Given the description of an element on the screen output the (x, y) to click on. 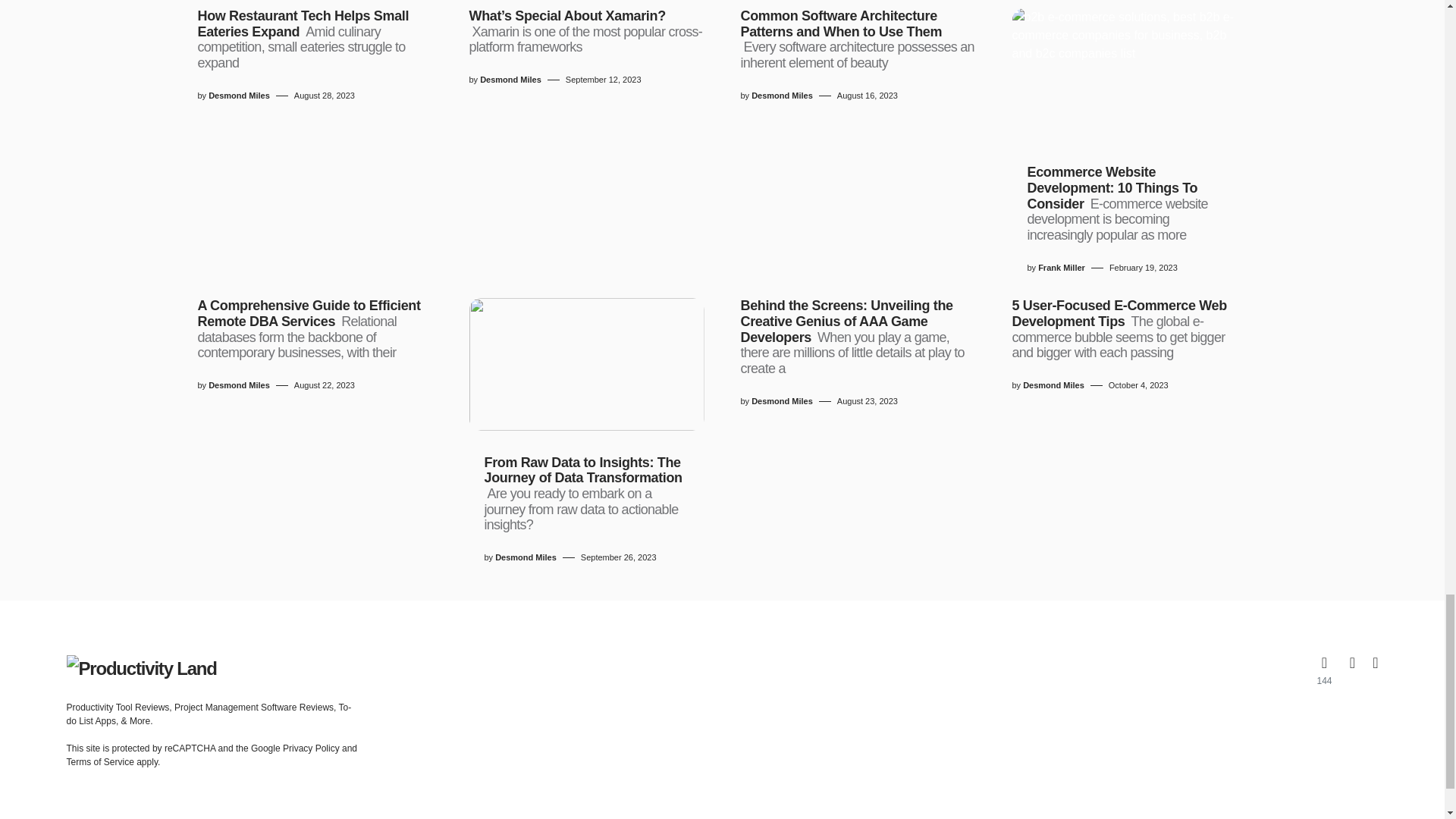
View all posts by Desmond Miles (781, 95)
View all posts by Desmond Miles (510, 79)
View all posts by Desmond Miles (781, 400)
View all posts by Desmond Miles (238, 95)
View all posts by Desmond Miles (238, 385)
View all posts by Frank Miller (1061, 267)
View all posts by Desmond Miles (1053, 385)
View all posts by Desmond Miles (525, 557)
